Given the description of an element on the screen output the (x, y) to click on. 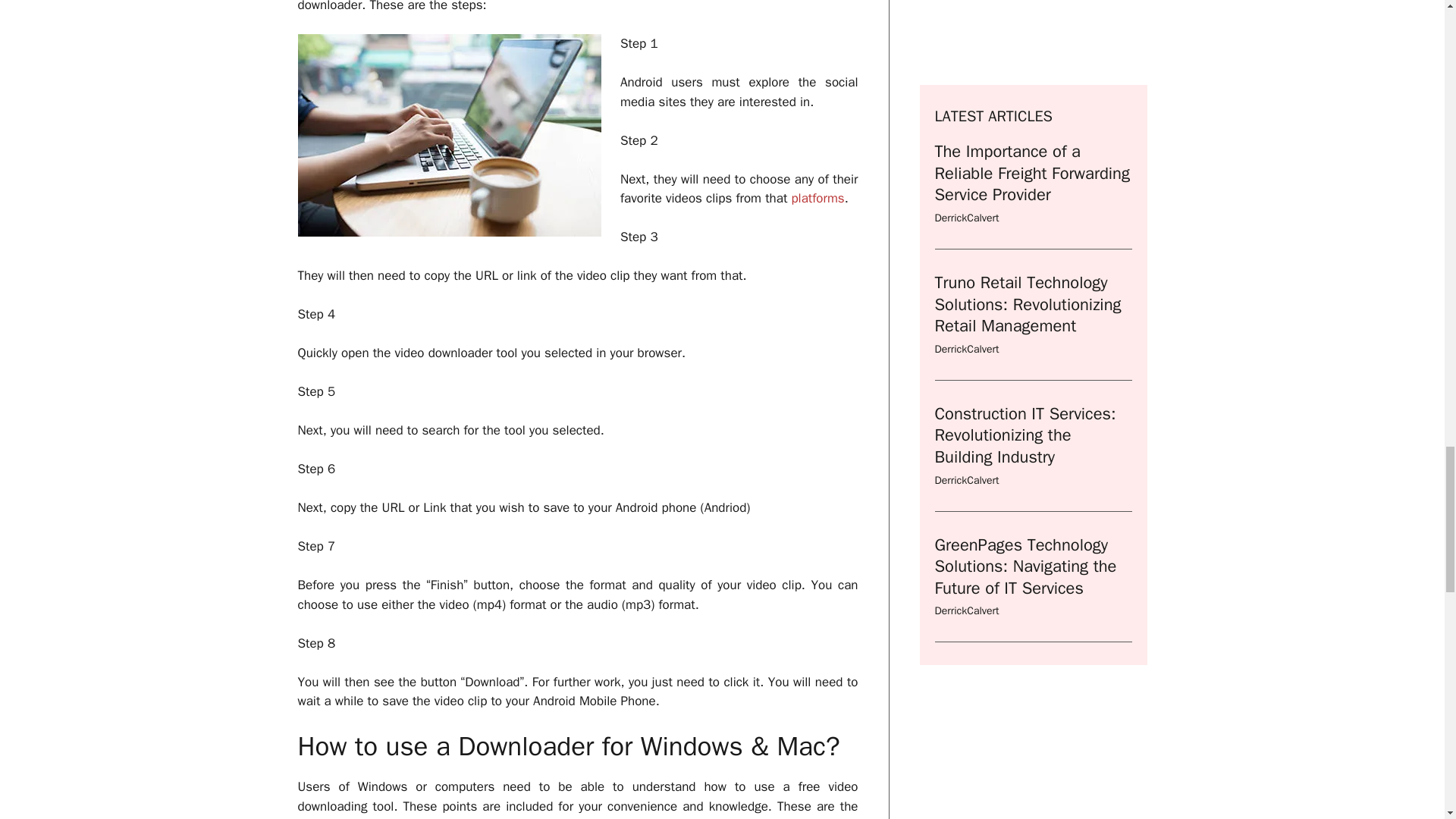
platforms (817, 198)
